Given the description of an element on the screen output the (x, y) to click on. 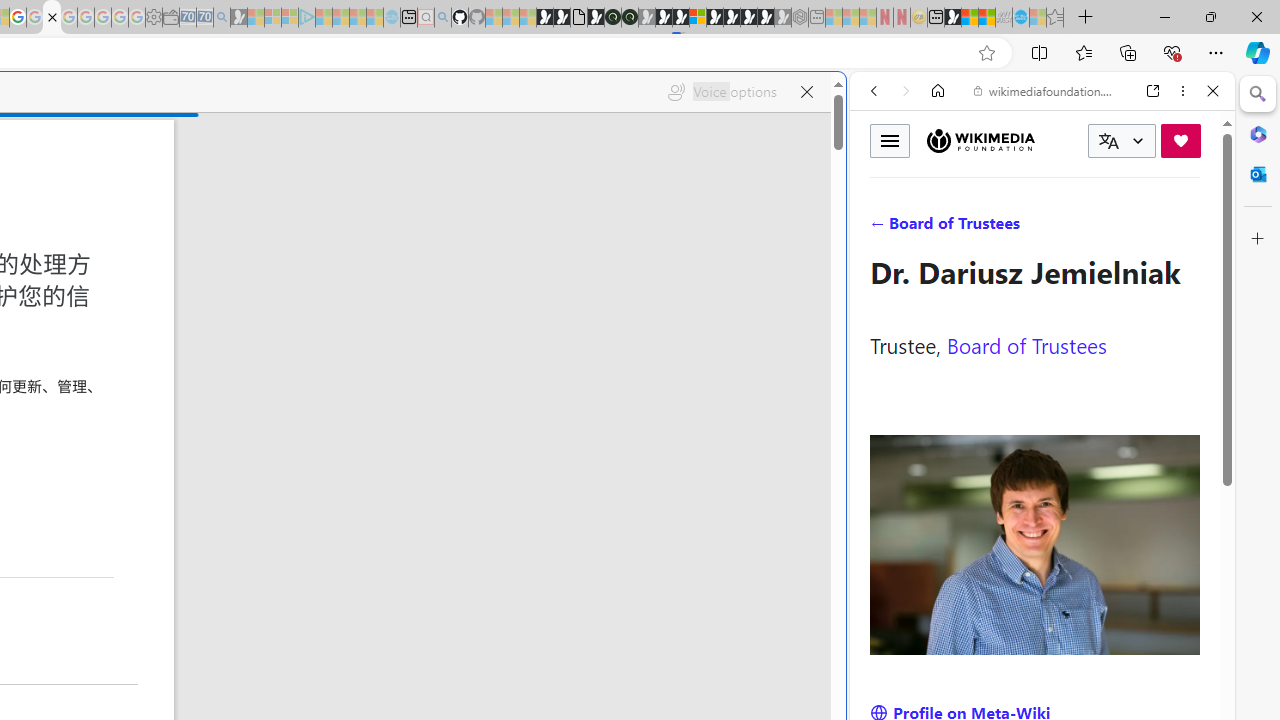
github - Search - Sleeping (442, 17)
Tabs you've opened (276, 265)
